Given the description of an element on the screen output the (x, y) to click on. 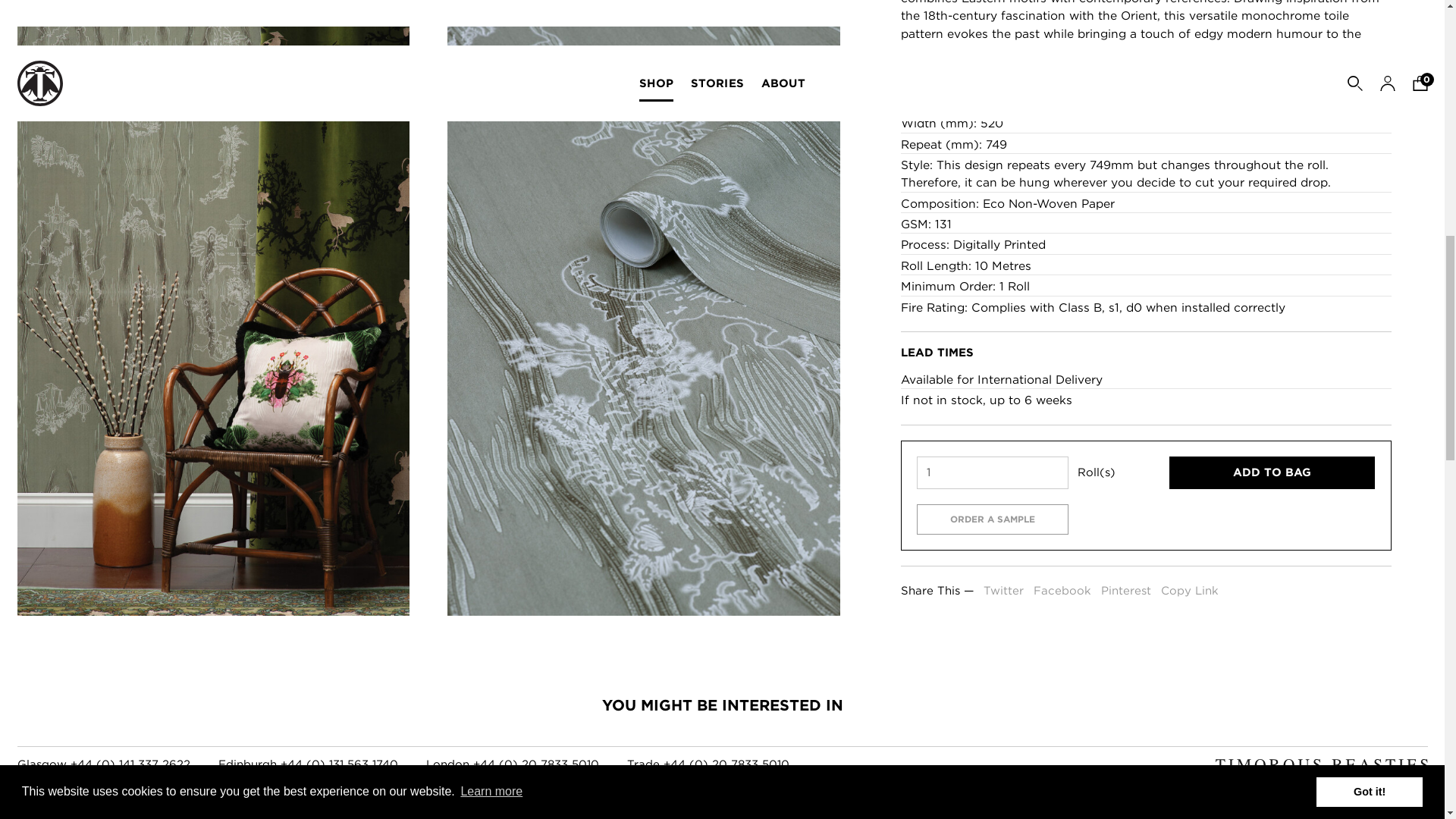
1 (992, 120)
